Given the description of an element on the screen output the (x, y) to click on. 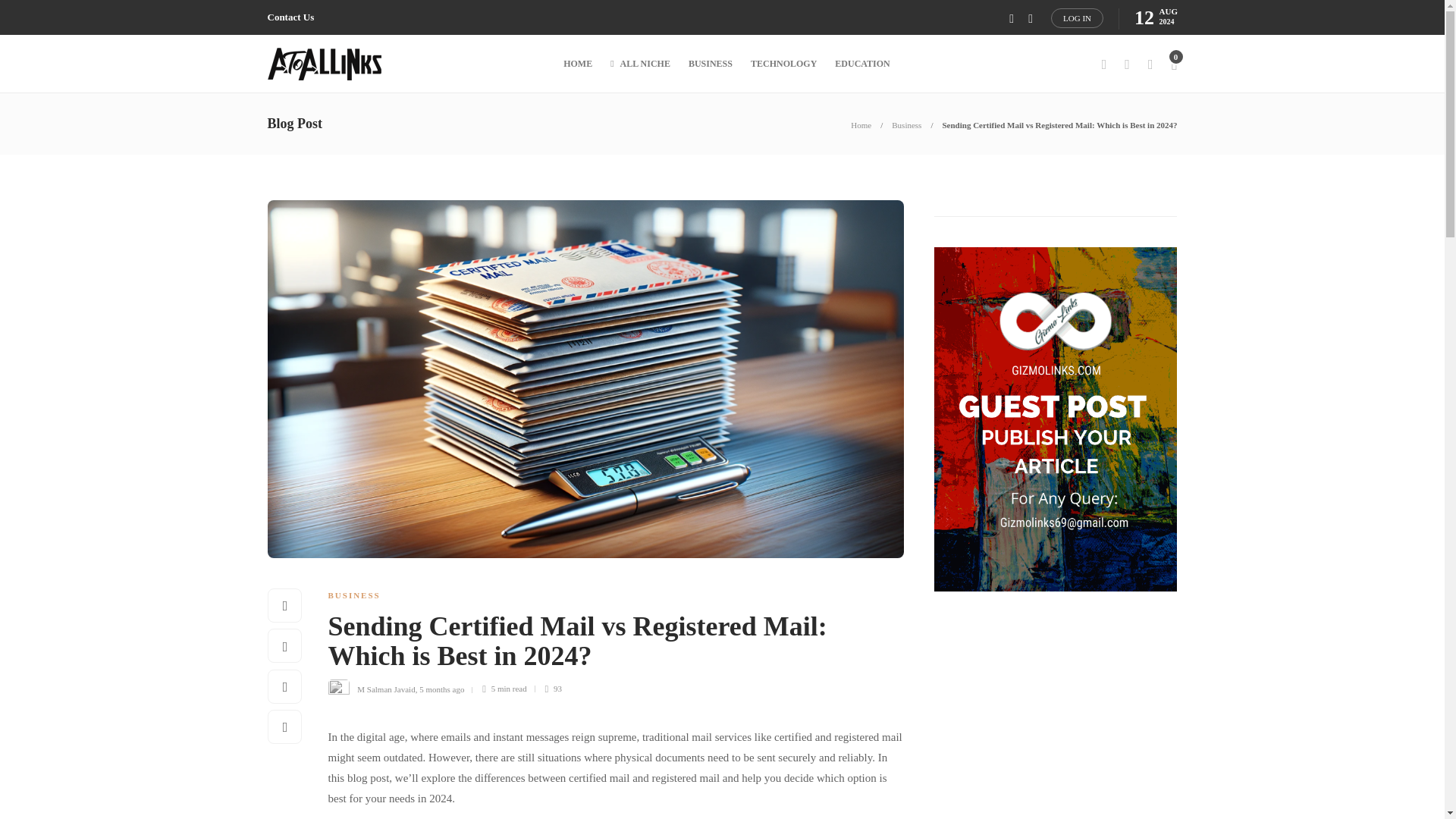
ALL NICHE (639, 63)
Contact Us (290, 17)
M Salman Javaid (385, 687)
BUSINESS (353, 594)
Business (906, 124)
Home (860, 124)
Home (860, 124)
TECHNOLOGY (783, 63)
LOG IN (1077, 17)
